Given the description of an element on the screen output the (x, y) to click on. 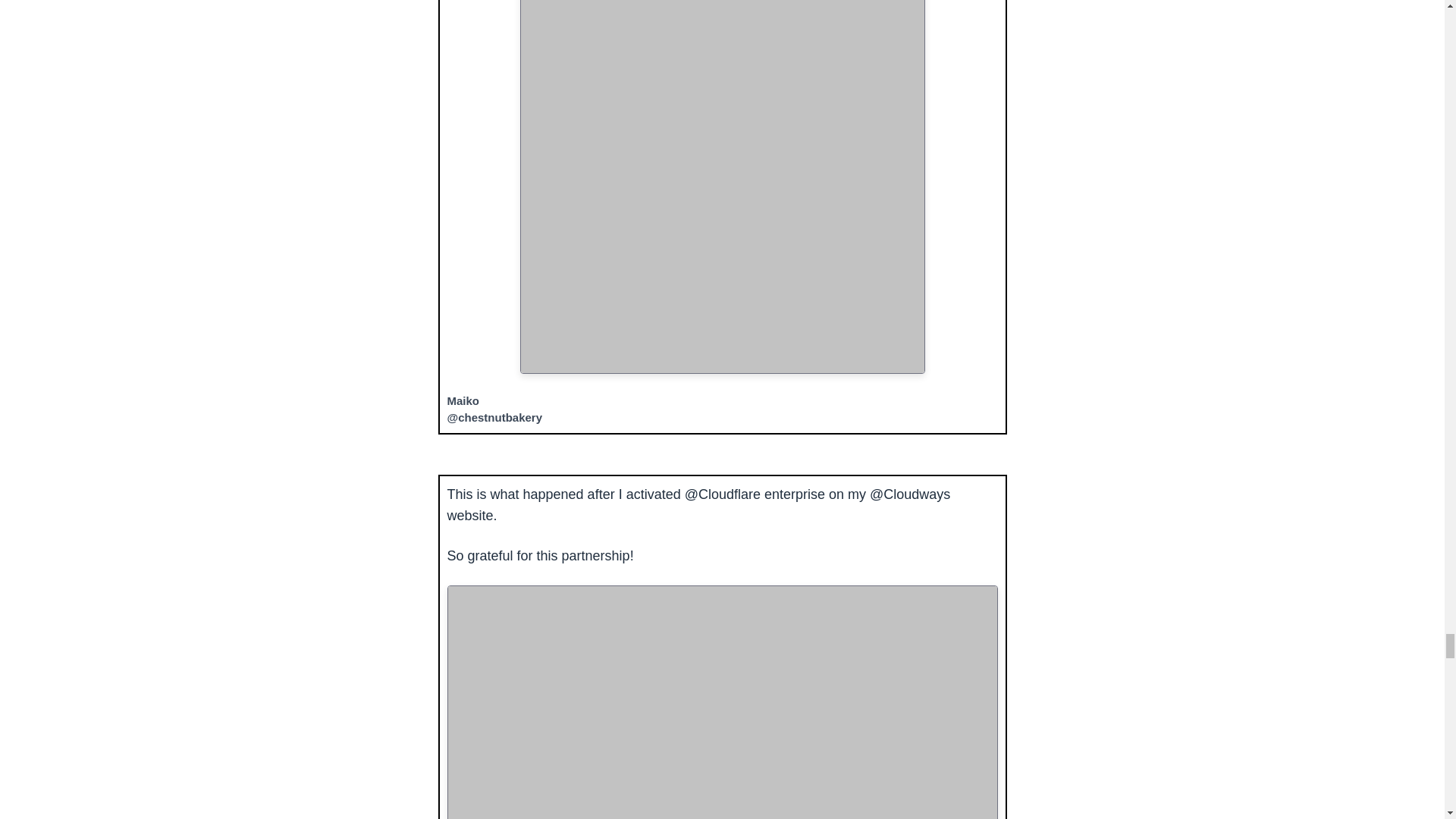
Maiko (463, 400)
